Given the description of an element on the screen output the (x, y) to click on. 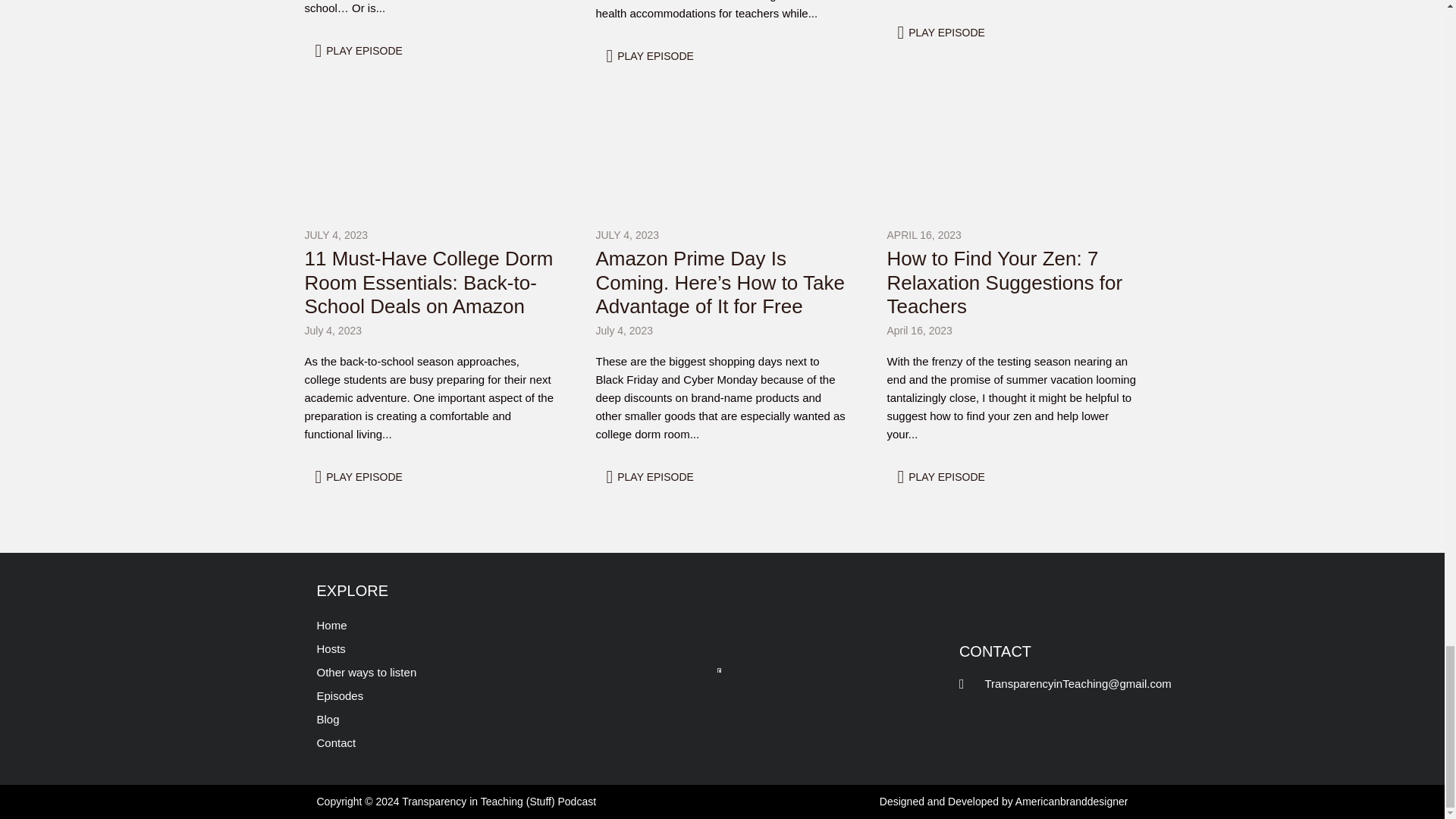
PLAY EPISODE (360, 51)
